Given the description of an element on the screen output the (x, y) to click on. 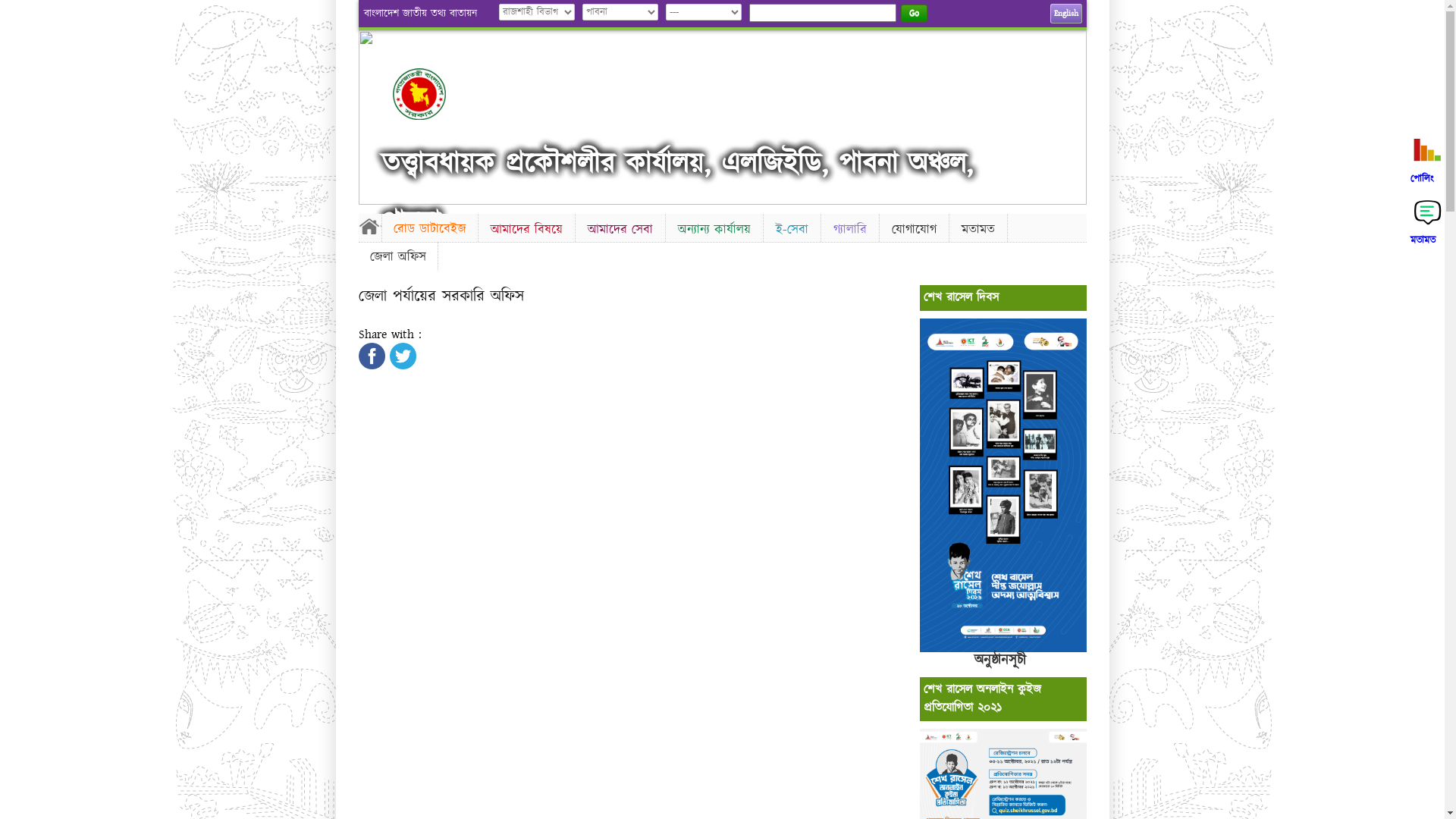
Go Element type: text (913, 12)
Home Element type: hover (368, 225)
English Element type: text (1065, 13)
Home Element type: hover (431, 93)
